Given the description of an element on the screen output the (x, y) to click on. 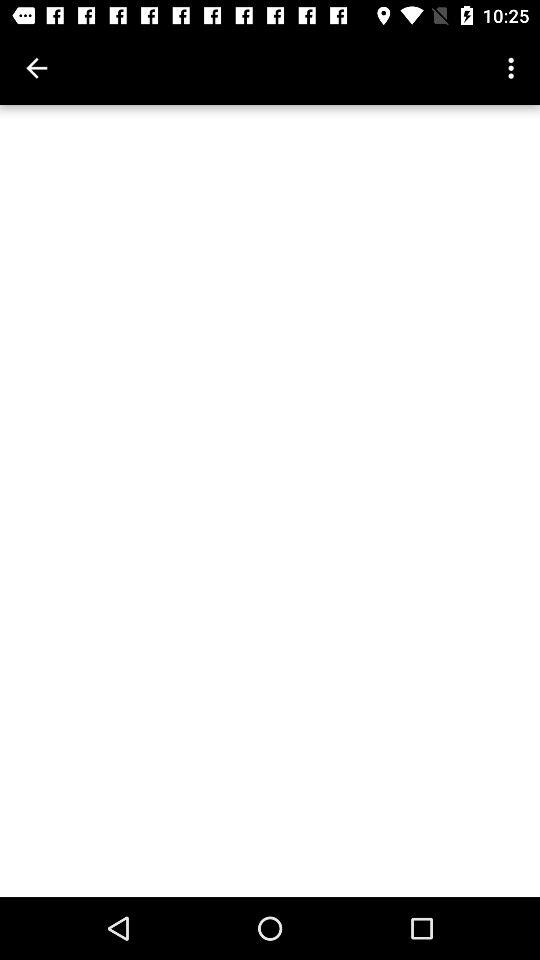
open the icon at the center (270, 500)
